Given the description of an element on the screen output the (x, y) to click on. 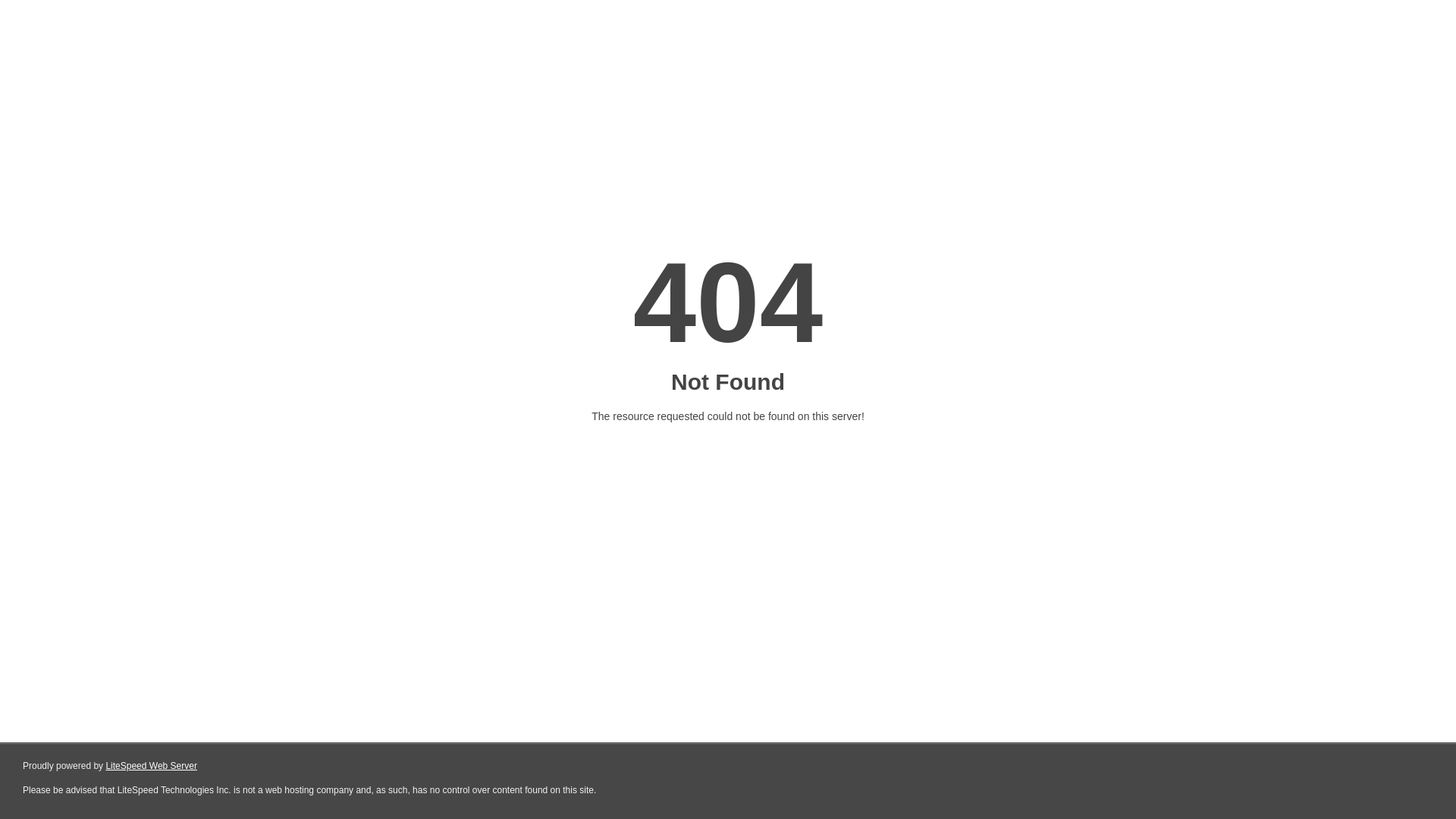
LiteSpeed Web Server Element type: text (151, 765)
